Given the description of an element on the screen output the (x, y) to click on. 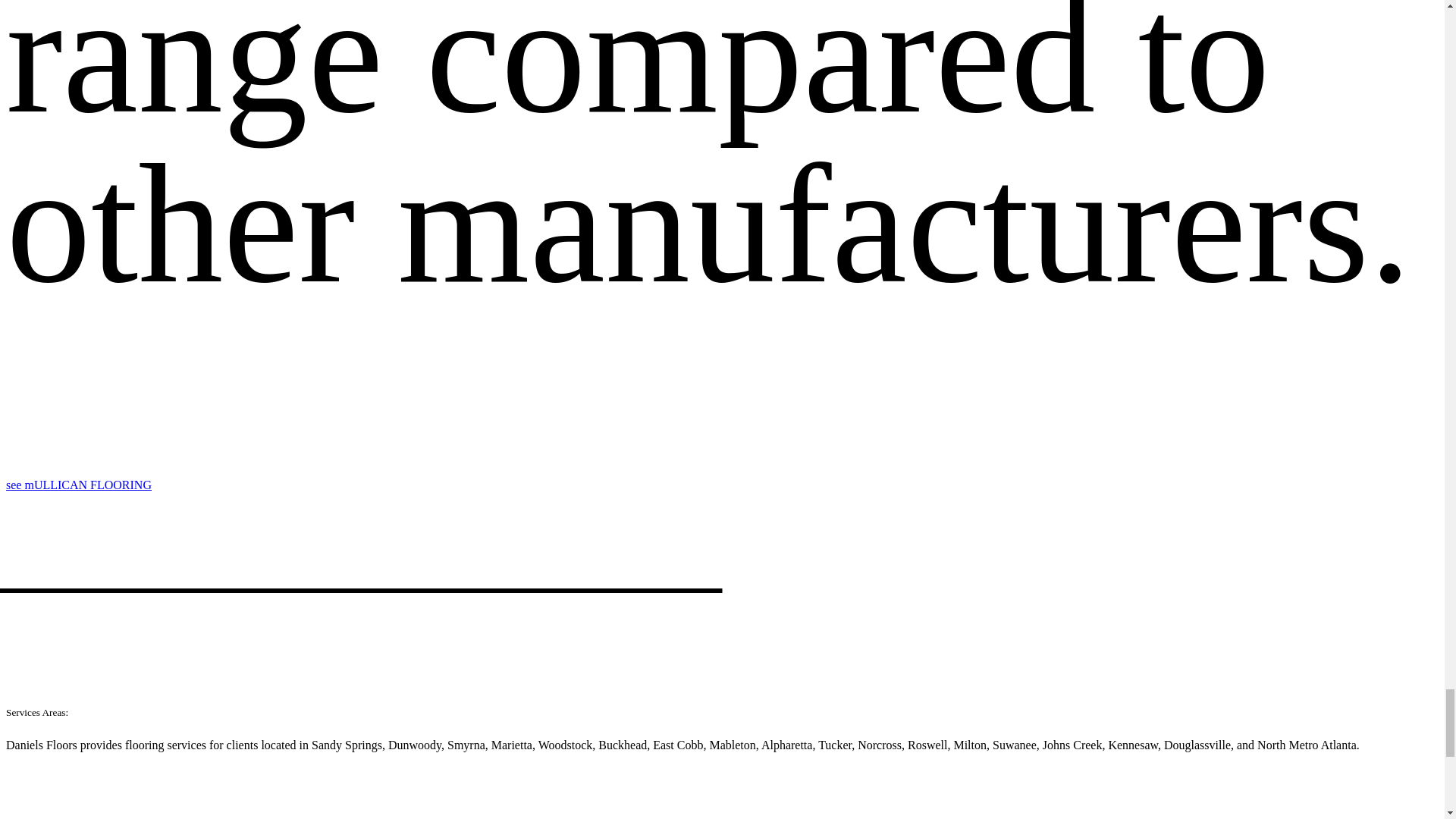
see mULLICAN FLOORING (78, 484)
